Given the description of an element on the screen output the (x, y) to click on. 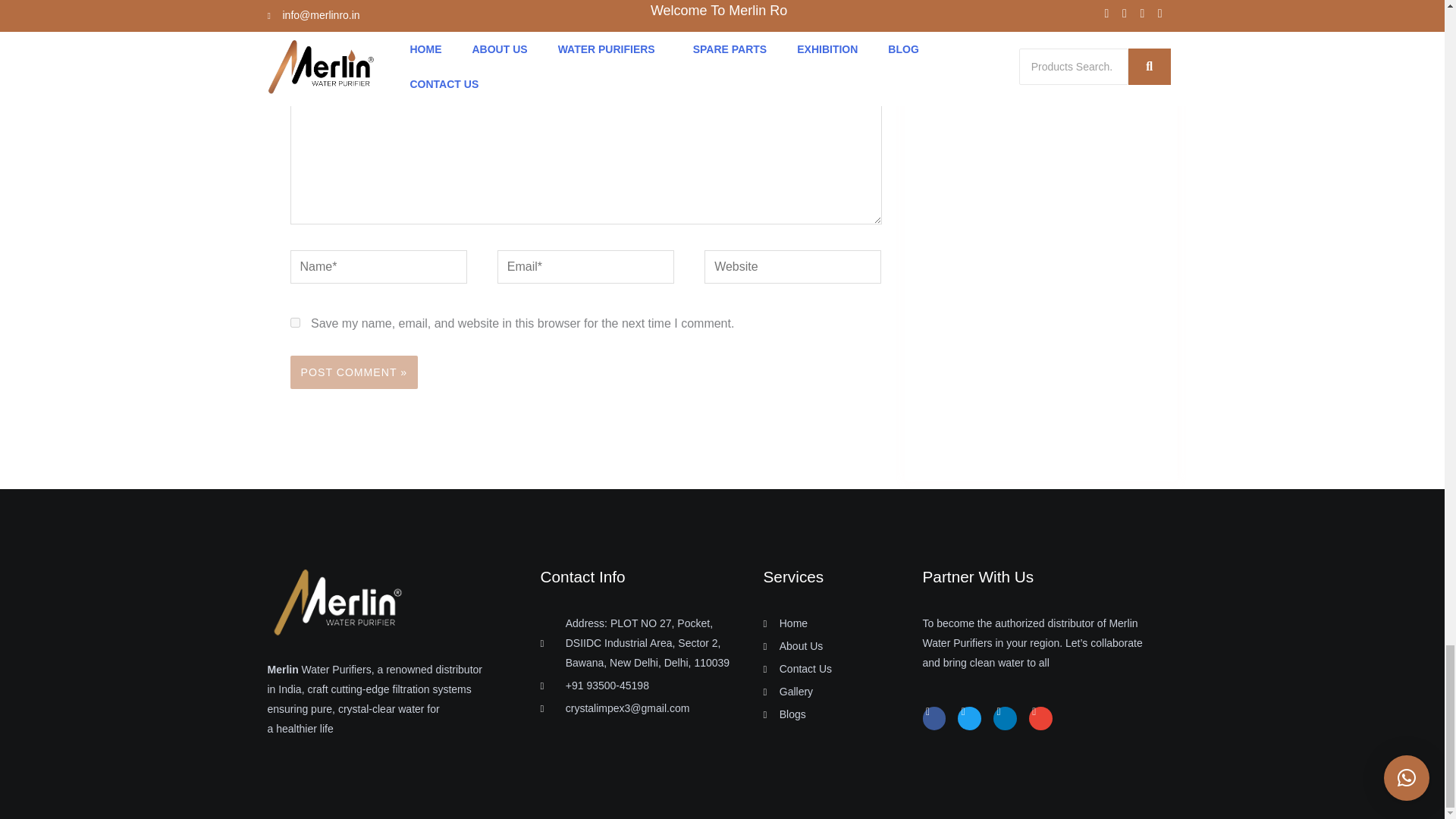
yes (294, 322)
